Given the description of an element on the screen output the (x, y) to click on. 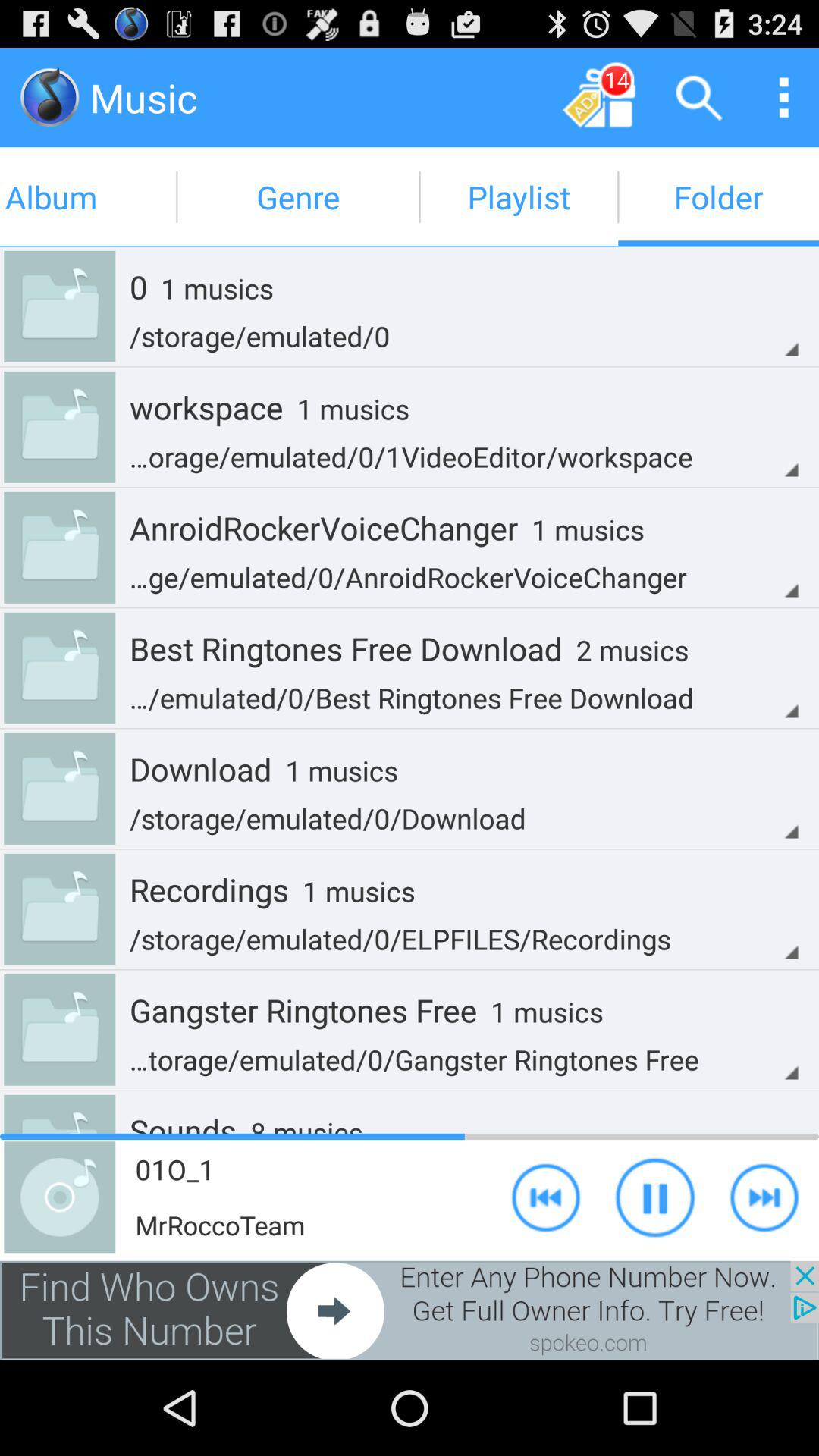
pause audio (654, 1196)
